Given the description of an element on the screen output the (x, y) to click on. 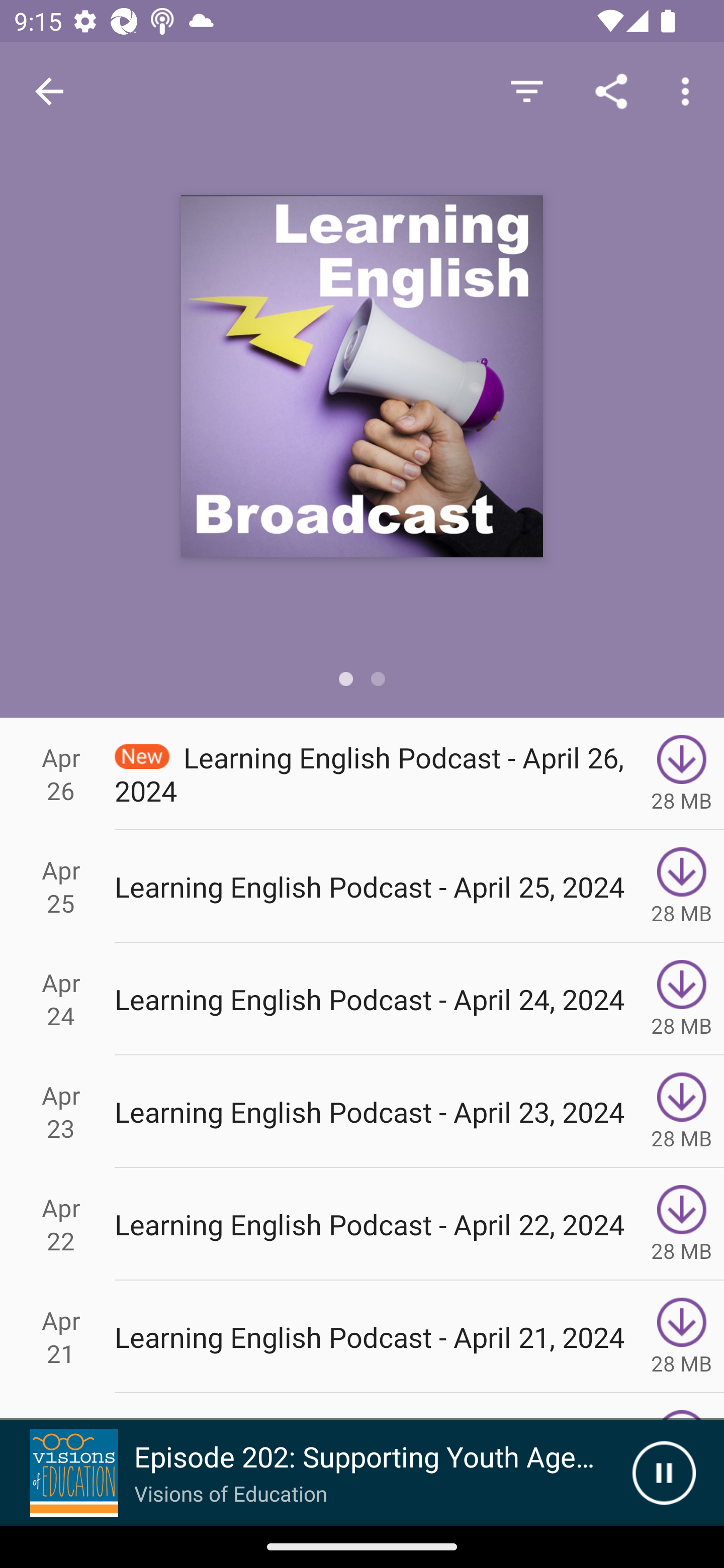
Navigate up (49, 91)
Hide Episodes (526, 90)
Share Link (611, 90)
More options (688, 90)
Download 28 MB (681, 773)
Download 28 MB (681, 885)
Download 28 MB (681, 998)
Download 28 MB (681, 1111)
Download 28 MB (681, 1224)
Download 28 MB (681, 1336)
Pause (663, 1472)
